Given the description of an element on the screen output the (x, y) to click on. 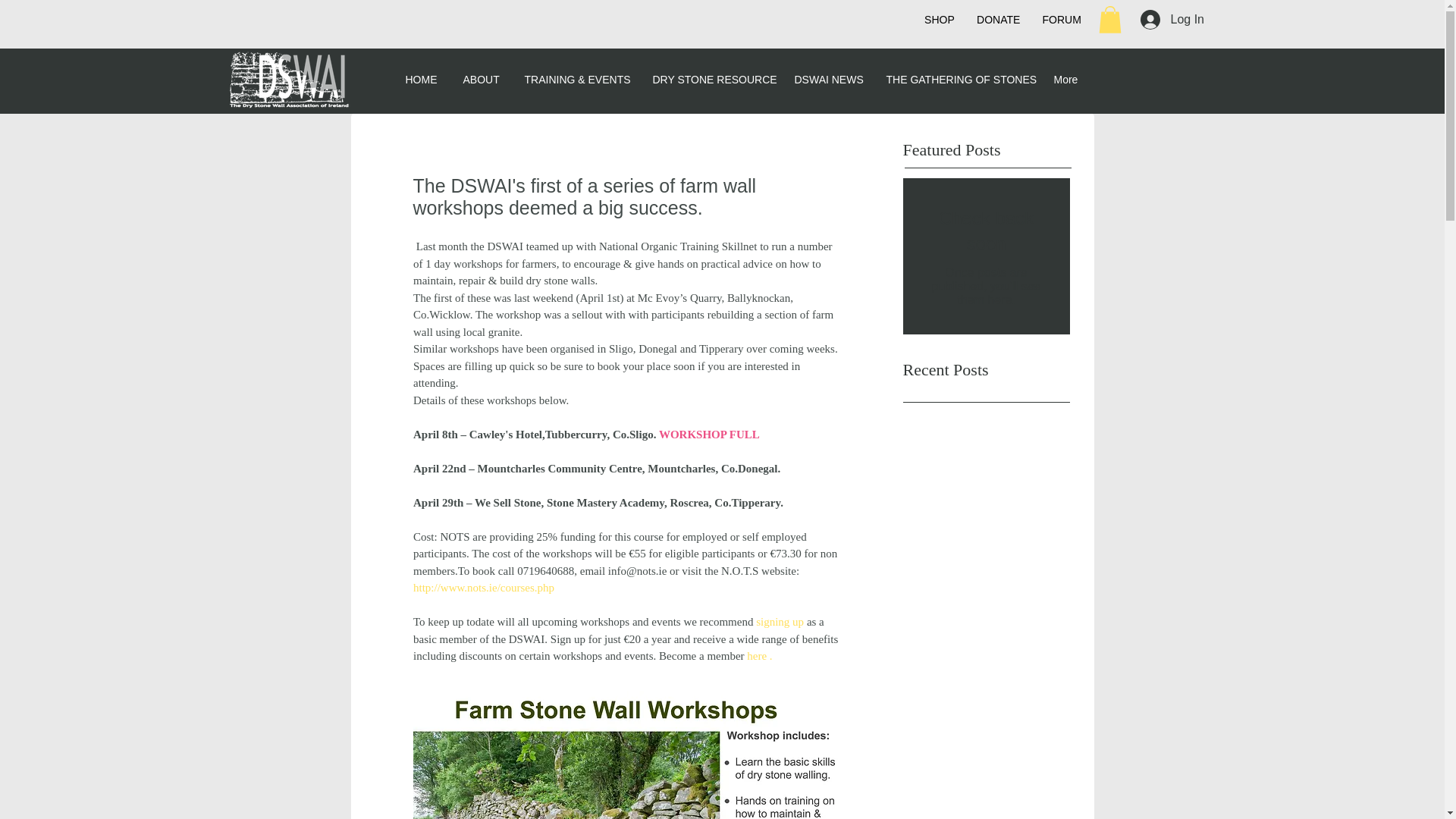
FORUM (1061, 19)
DRY STONE RESOURCE (712, 79)
THE GATHERING OF STONES (958, 79)
DSWAI NEWS (829, 79)
signing up  (780, 621)
SHOP (938, 19)
ABOUT (482, 79)
DONATE (997, 19)
here . (758, 655)
HOME (422, 79)
